Given the description of an element on the screen output the (x, y) to click on. 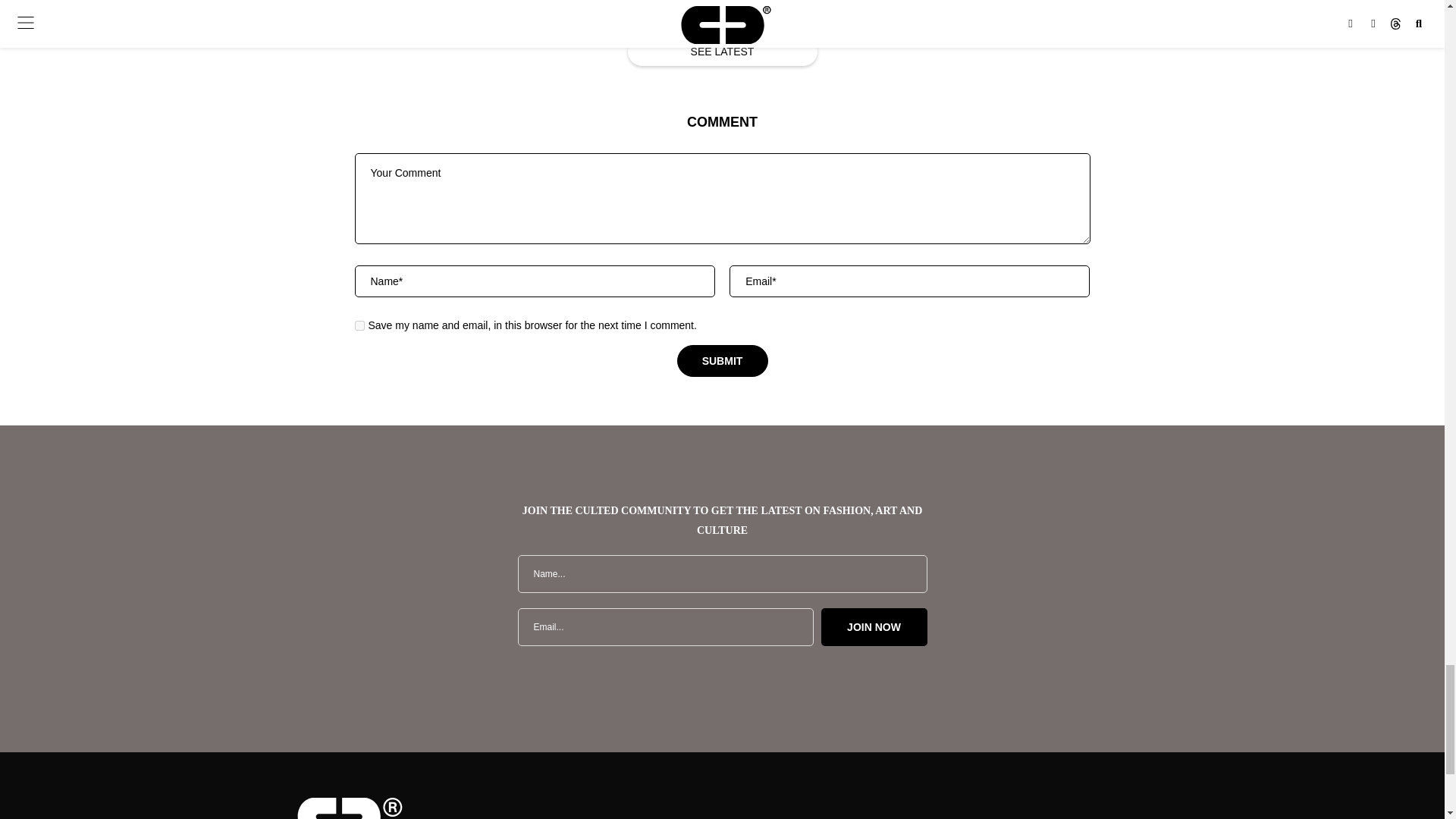
yes (360, 325)
Submit (722, 360)
JOIN NOW (873, 627)
